Given the description of an element on the screen output the (x, y) to click on. 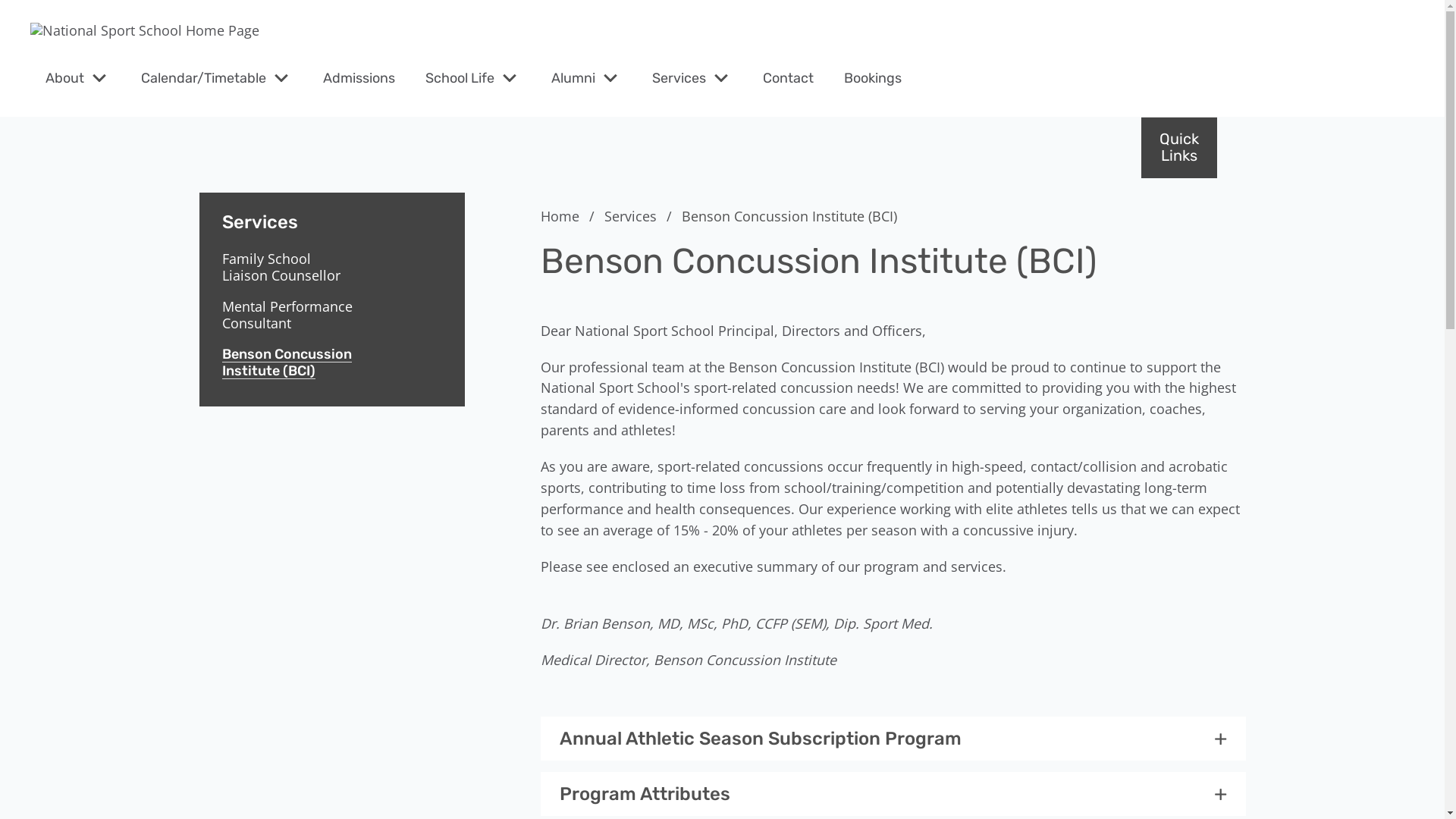
Mental Performance Consultant Element type: text (287, 314)
Home Element type: text (569, 216)
home Element type: hover (144, 30)
Alumni Element type: text (573, 77)
Bookings Element type: text (872, 77)
About Element type: text (64, 77)
Services Element type: text (679, 77)
Calendar/Timetable Element type: text (203, 77)
Services Element type: text (640, 216)
Benson Concussion Institute (BCI) Element type: text (287, 362)
Quick Links Element type: text (1179, 147)
Admissions Element type: text (359, 77)
Contact Element type: text (787, 77)
Search Element type: text (45, 19)
Services Element type: text (331, 212)
School Life Element type: text (459, 77)
Family School Liaison Counsellor Element type: text (287, 266)
